Given the description of an element on the screen output the (x, y) to click on. 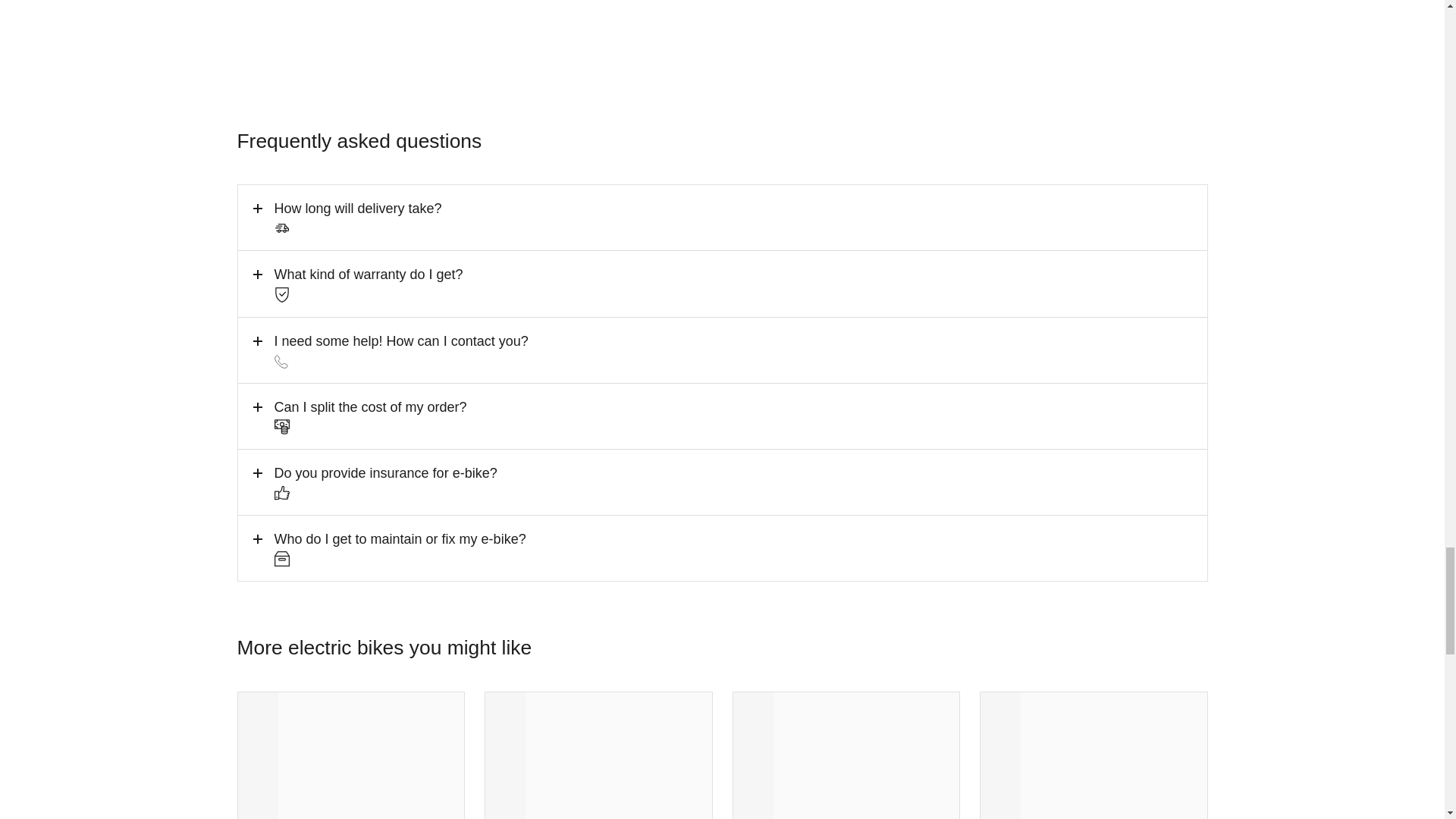
Electric Folding Bikes (351, 755)
Waterproof electric bikes (597, 755)
Cheap and budget electric bikes for adults (1093, 755)
Long-range electric bikes (845, 755)
